Given the description of an element on the screen output the (x, y) to click on. 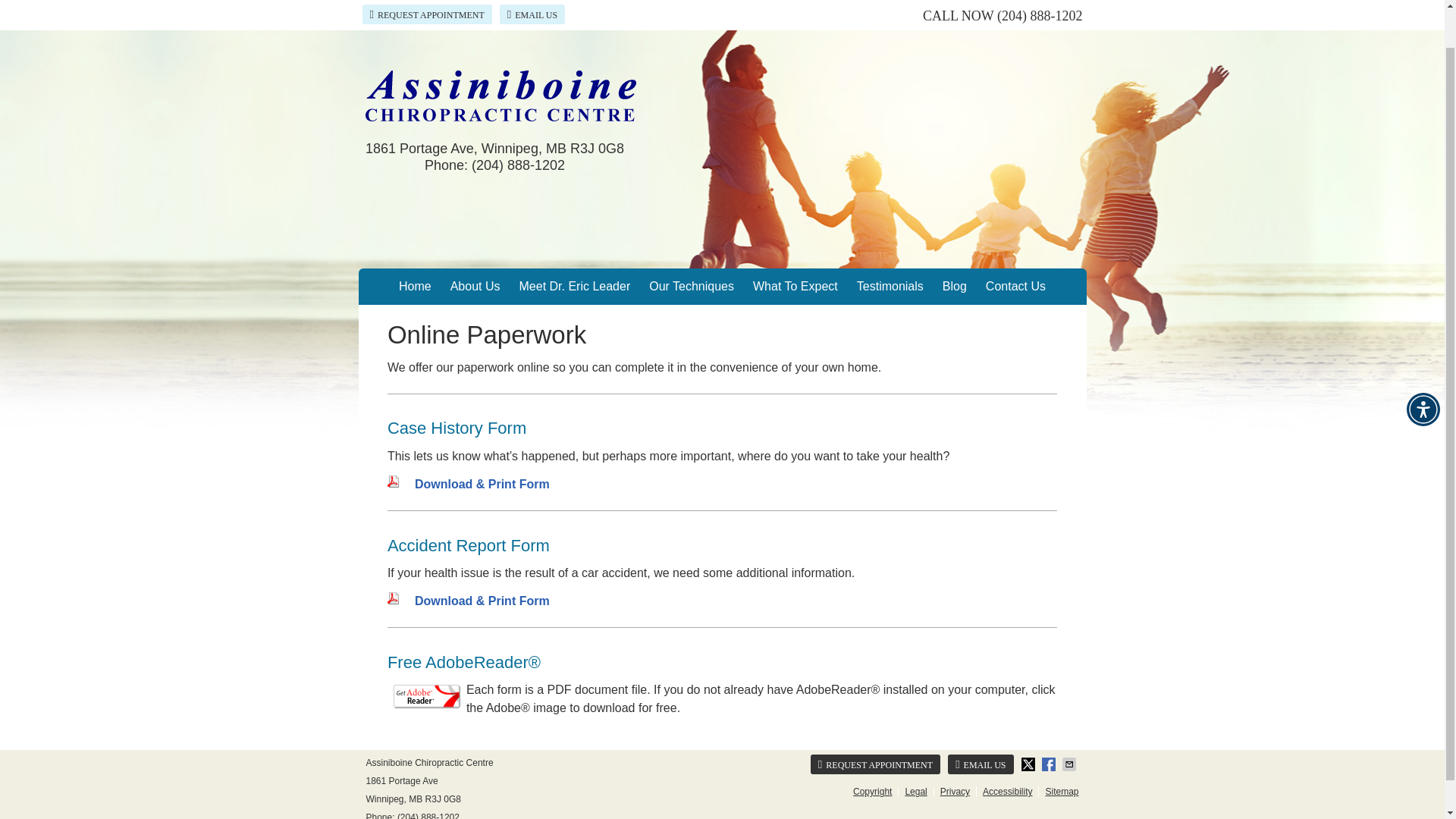
Testimonials (890, 286)
Copyright (872, 791)
What To Expect (795, 286)
Footer Links (962, 791)
Contact (980, 763)
Blog (954, 286)
Sitemap (1058, 791)
Meet Dr. Eric Leader (574, 286)
REQUEST APPOINTMENT (875, 763)
Share on Facebook (1050, 764)
